Given the description of an element on the screen output the (x, y) to click on. 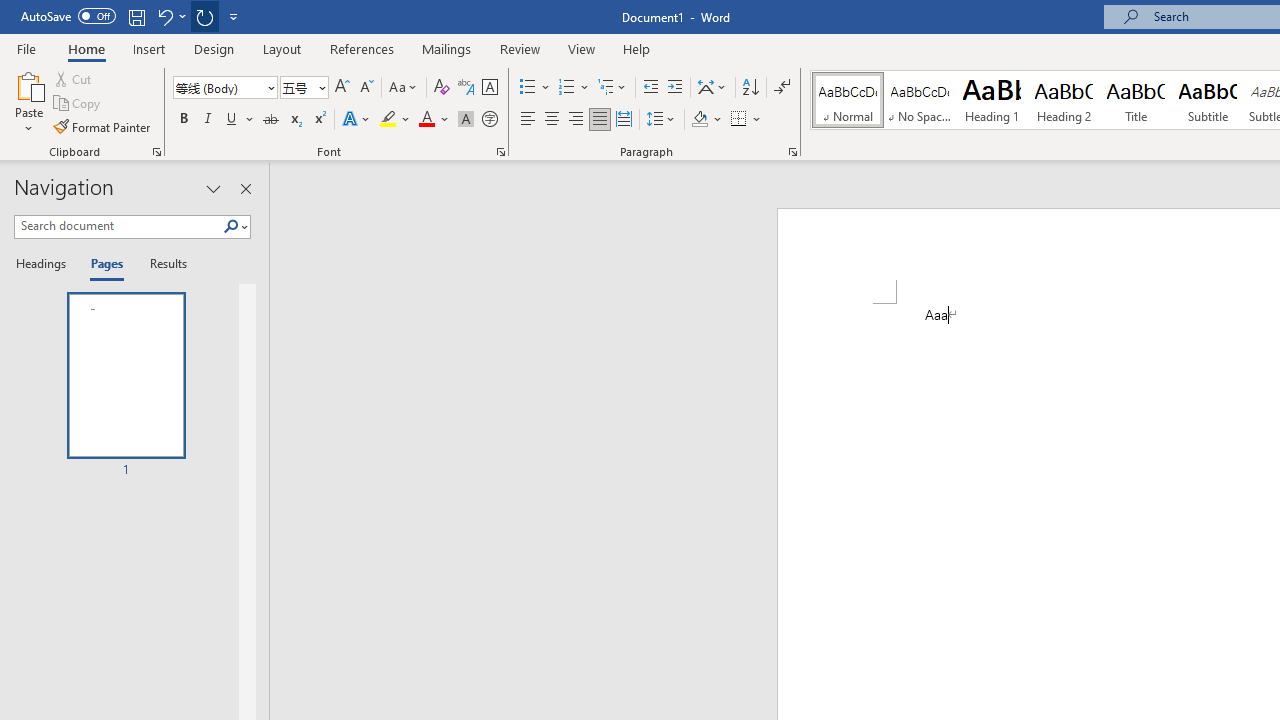
Subtitle (1208, 100)
Undo Apply Quick Style (170, 15)
